Given the description of an element on the screen output the (x, y) to click on. 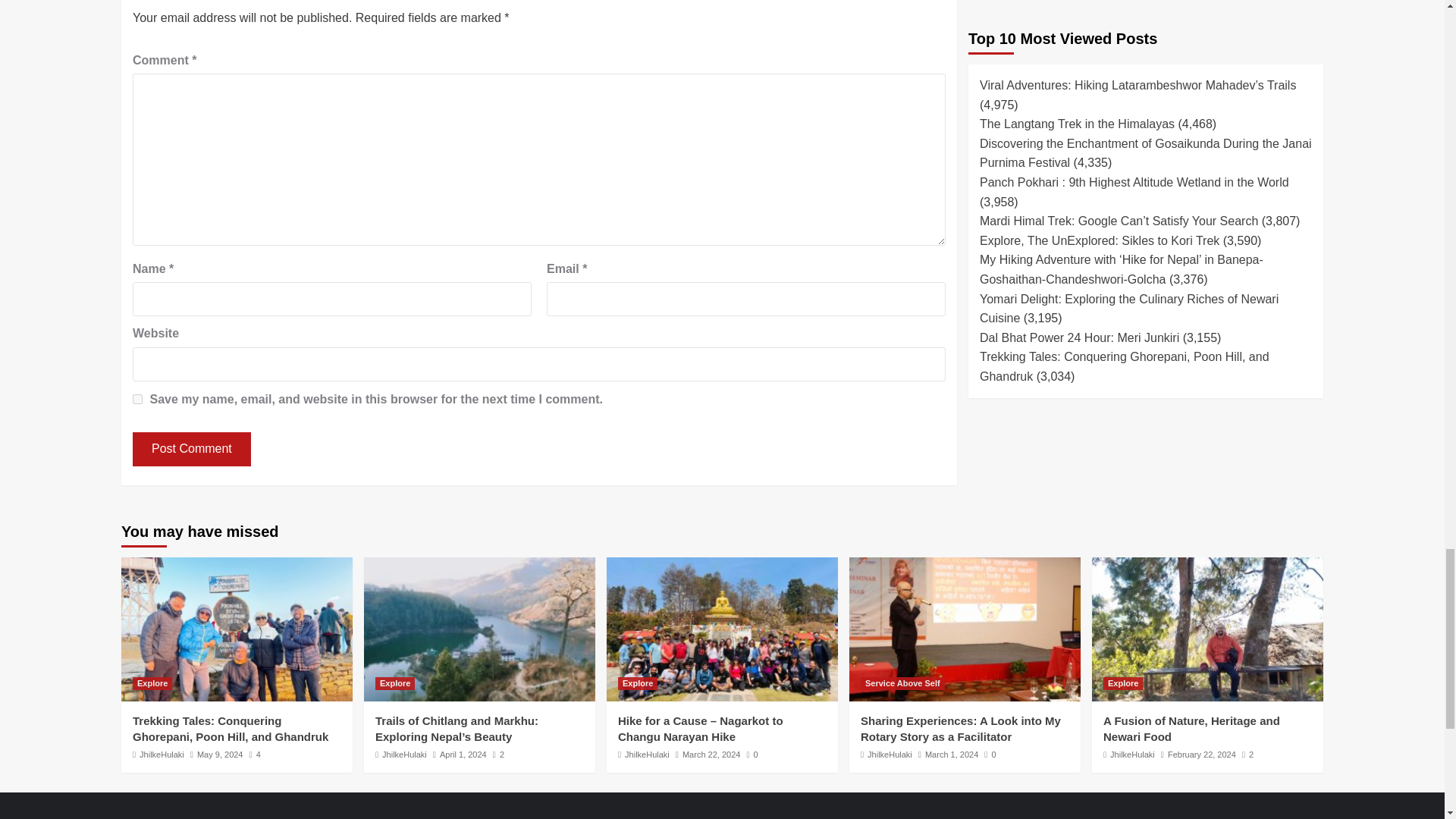
yes (137, 398)
Post Comment (191, 449)
